Given the description of an element on the screen output the (x, y) to click on. 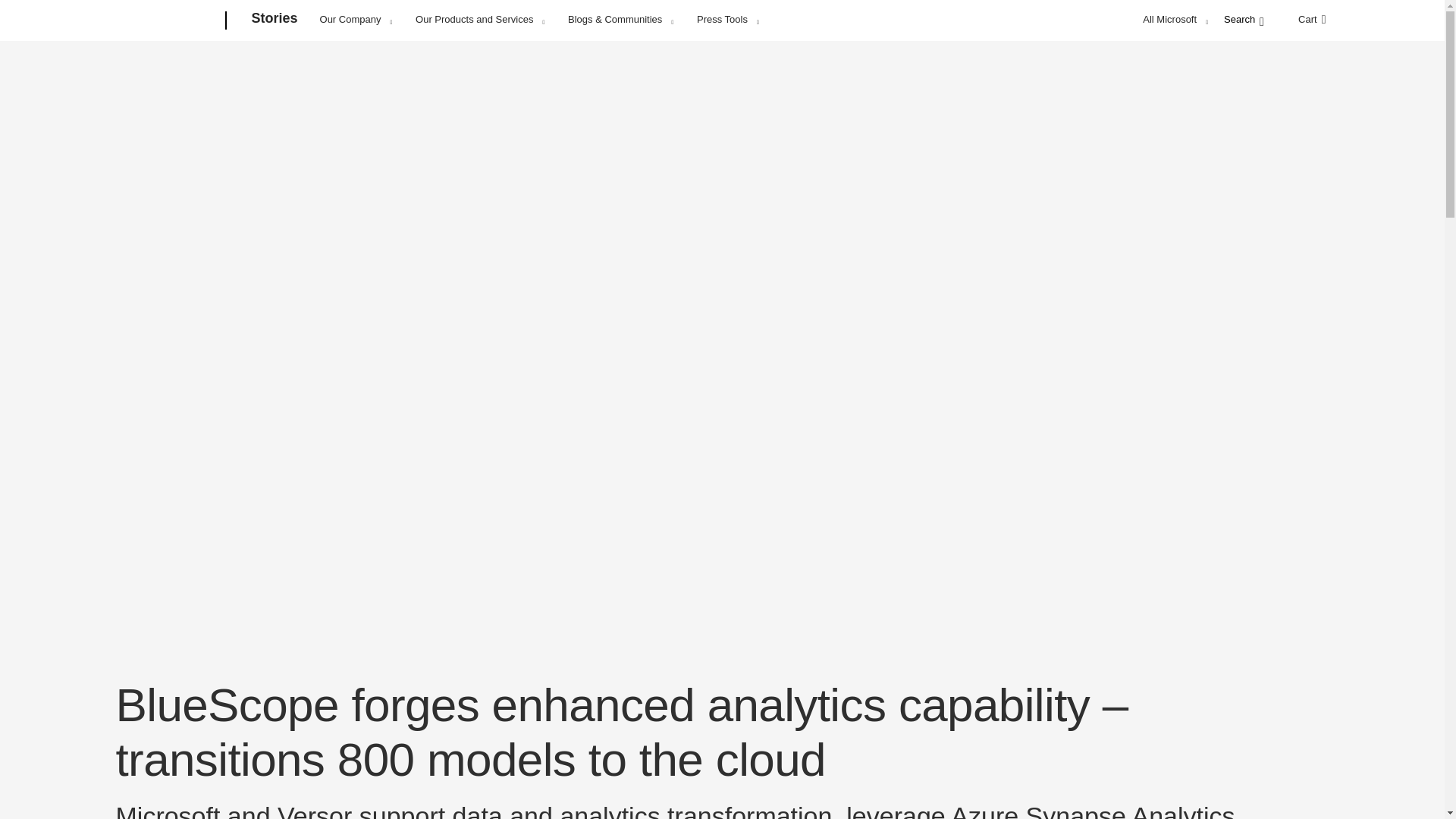
Microsoft (167, 20)
Stories (274, 20)
Our Company (355, 18)
Our Products and Services (479, 18)
